Given the description of an element on the screen output the (x, y) to click on. 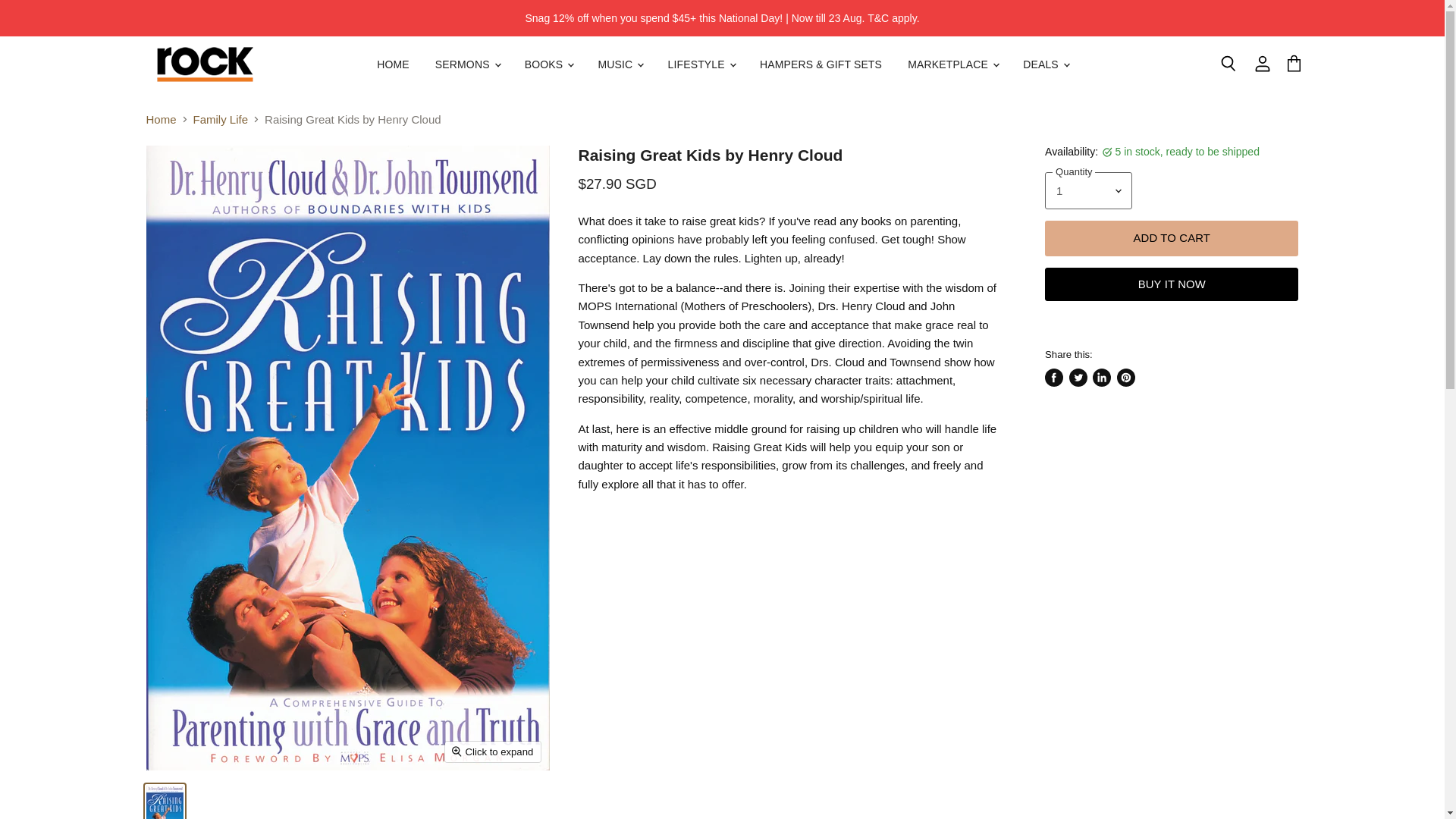
HOME (392, 64)
MUSIC (619, 64)
BOOKS (548, 64)
SERMONS (467, 64)
